Given the description of an element on the screen output the (x, y) to click on. 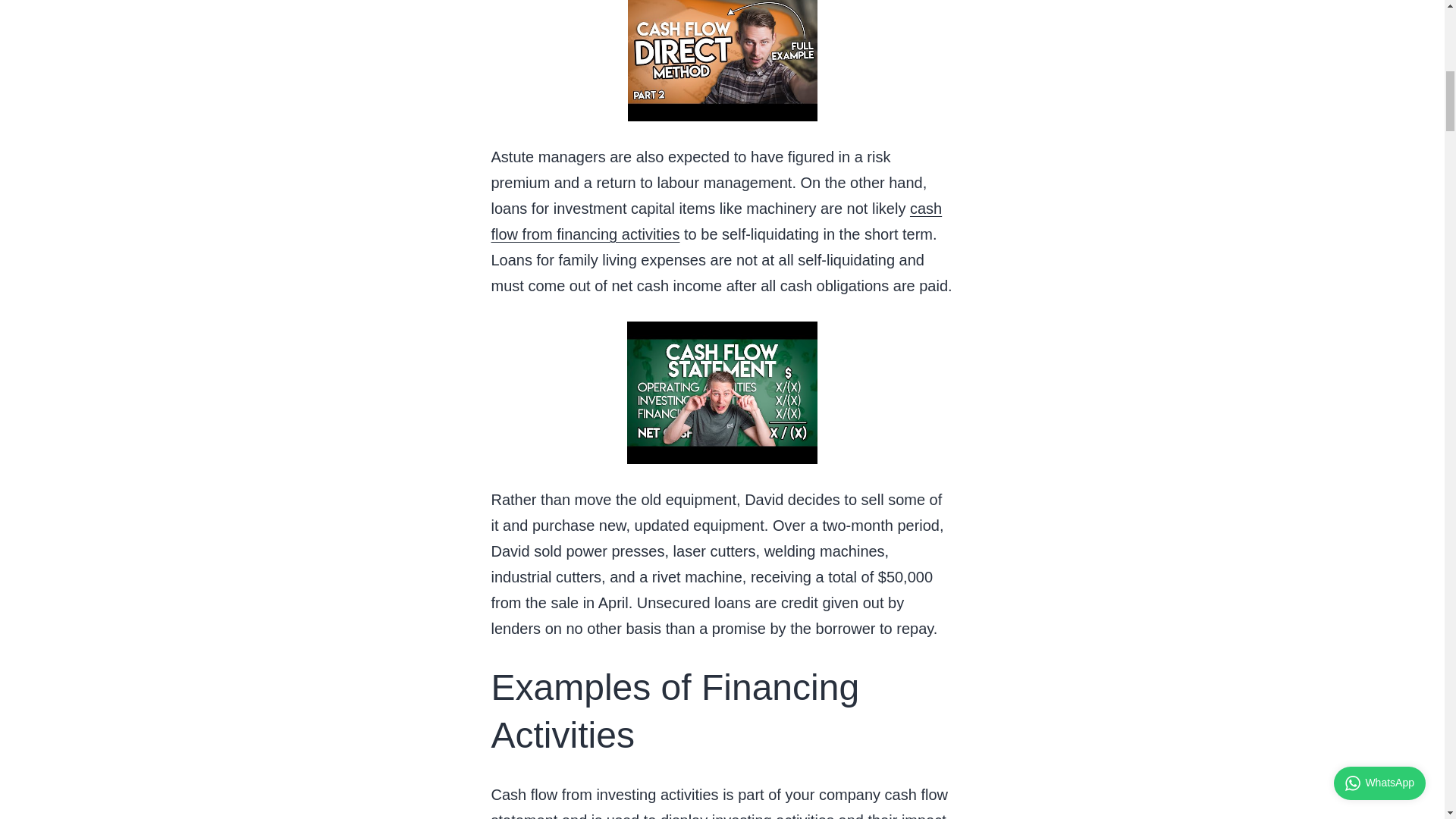
cash flow from financing activities (717, 220)
